Given the description of an element on the screen output the (x, y) to click on. 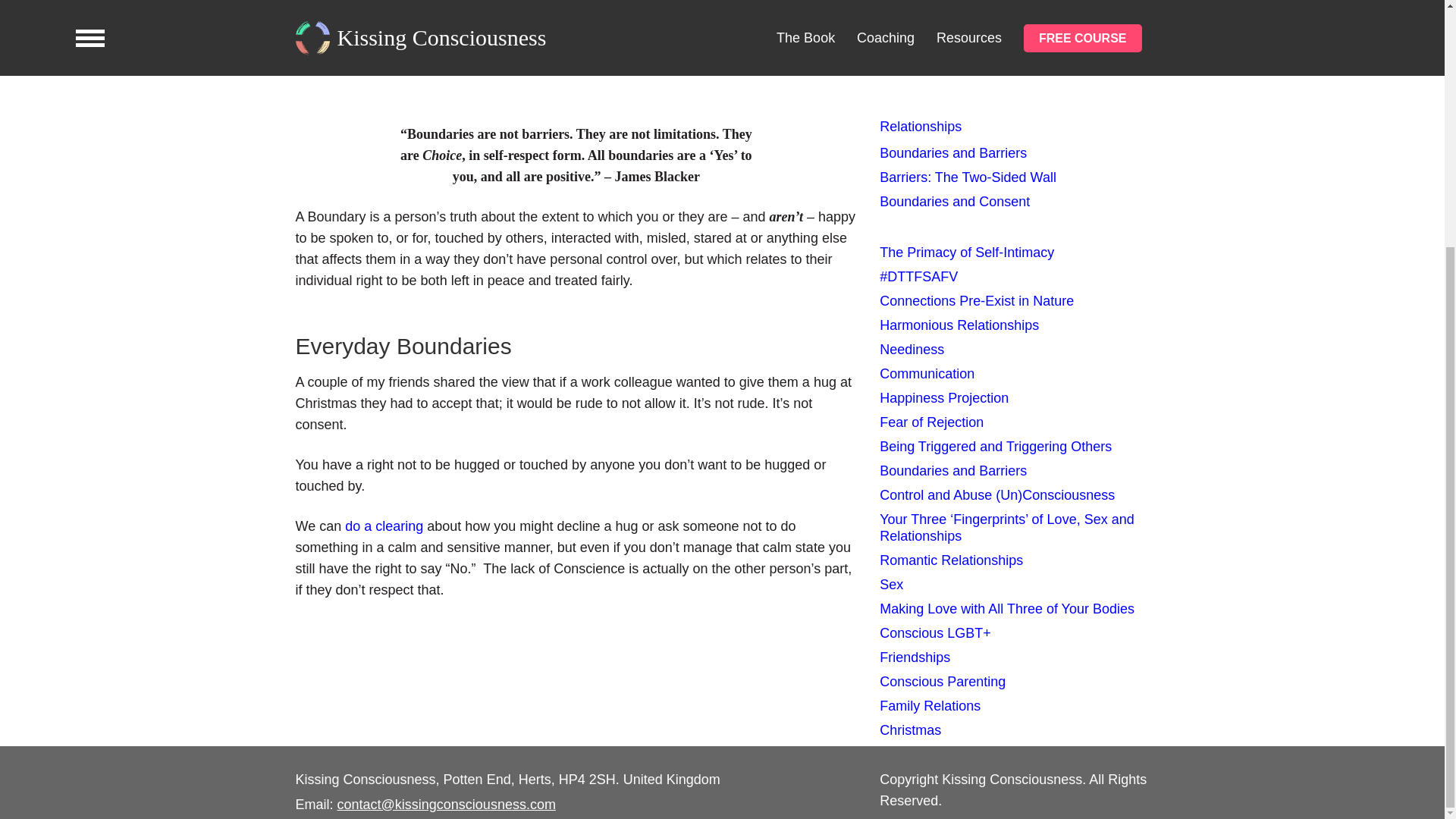
Harmonious Relationships (959, 324)
The Primacy of Self-Intimacy (966, 252)
Watch the 17 minute version (995, 1)
Neediness (911, 349)
Happiness Projection (944, 397)
Boundaries and Barriers (952, 470)
Sex (890, 584)
Communication (926, 373)
do a clearing (384, 525)
Go to www.FionaCutts.com (992, 44)
Romantic Relationships (951, 560)
Making Love with All Three of Your Bodies (1006, 608)
Connections Pre-Exist in Nature (976, 300)
Fear of Rejection (931, 421)
Boundaries and Consent (954, 201)
